Given the description of an element on the screen output the (x, y) to click on. 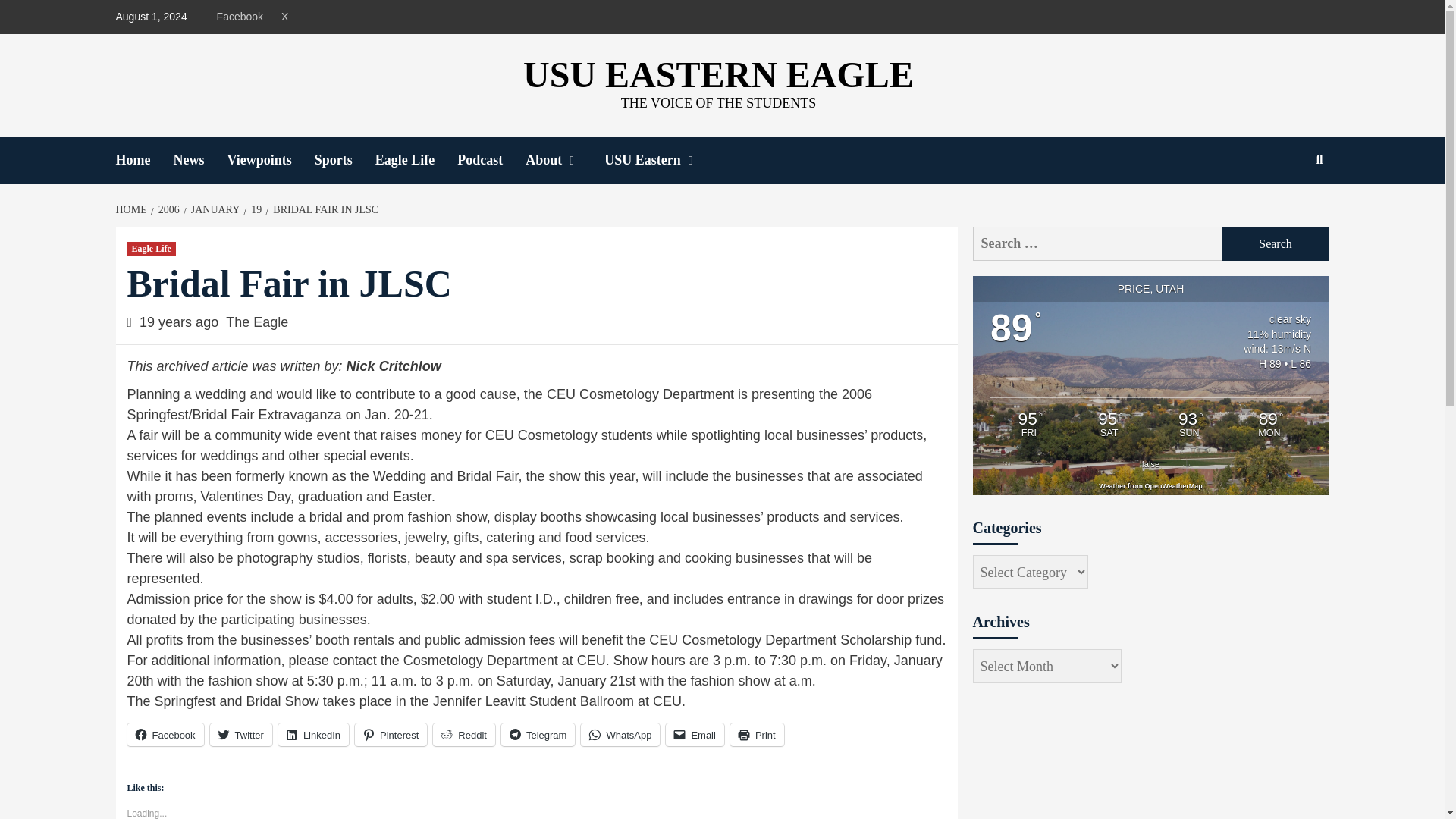
Eagle Life (152, 248)
Search (1276, 243)
2006 (167, 209)
Twitter (240, 734)
The Eagle (256, 322)
Search (1276, 243)
Viewpoints (270, 160)
Reddit (463, 734)
Home (144, 160)
Pinterest (390, 734)
About (564, 160)
Click to share on Pinterest (390, 734)
HOME (132, 209)
Facebook (165, 734)
Click to share on Reddit (463, 734)
